Given the description of an element on the screen output the (x, y) to click on. 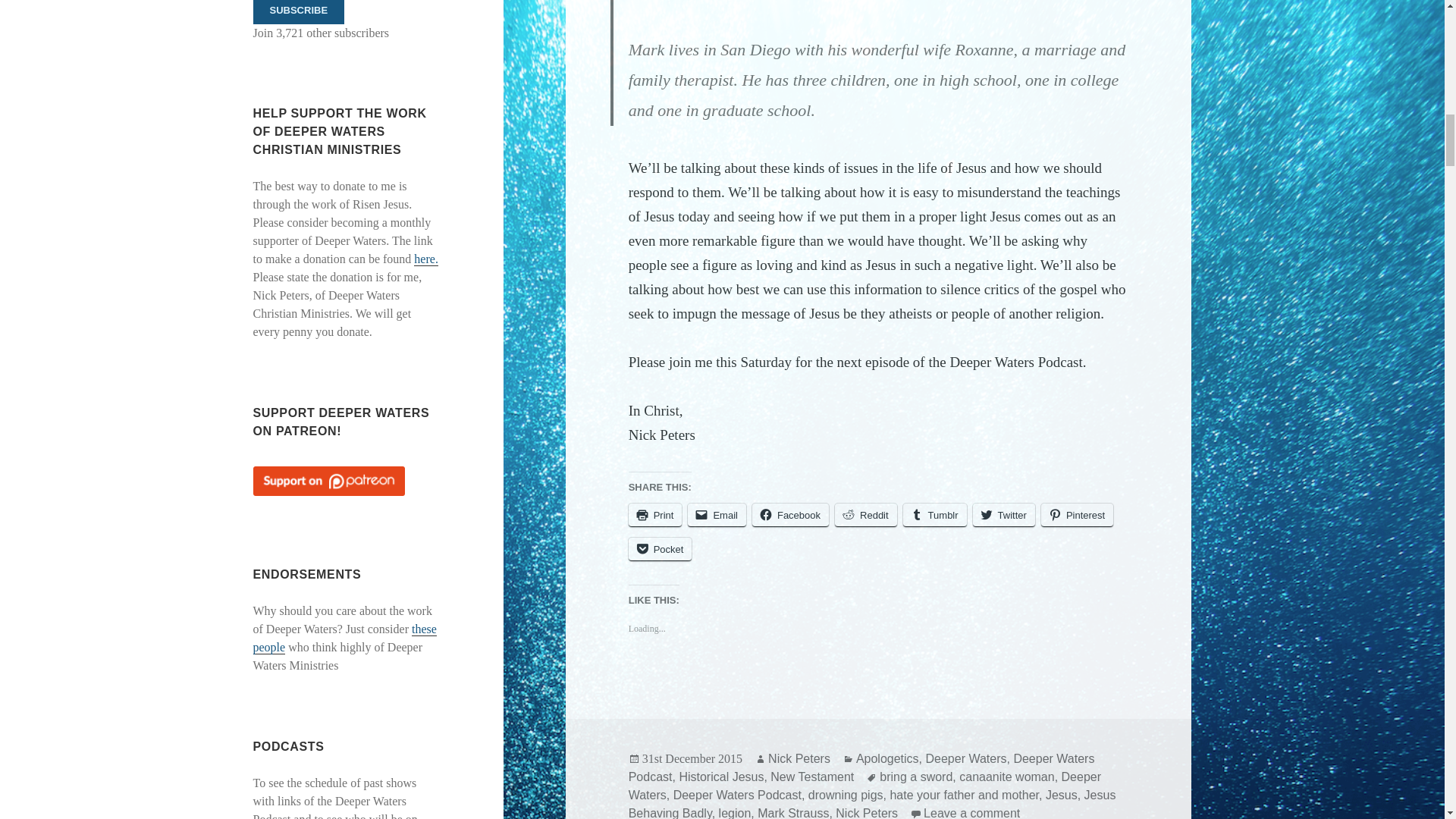
SUBSCRIBE (299, 12)
Click to share on Twitter (1003, 515)
Click to print (655, 515)
Click to share on Facebook (790, 515)
these people (344, 638)
Click to share on Pinterest (1077, 515)
Click to email a link to a friend (716, 515)
here. (425, 259)
Click to share on Reddit (865, 515)
Click to share on Pocket (660, 549)
Click to share on Tumblr (934, 515)
